Given the description of an element on the screen output the (x, y) to click on. 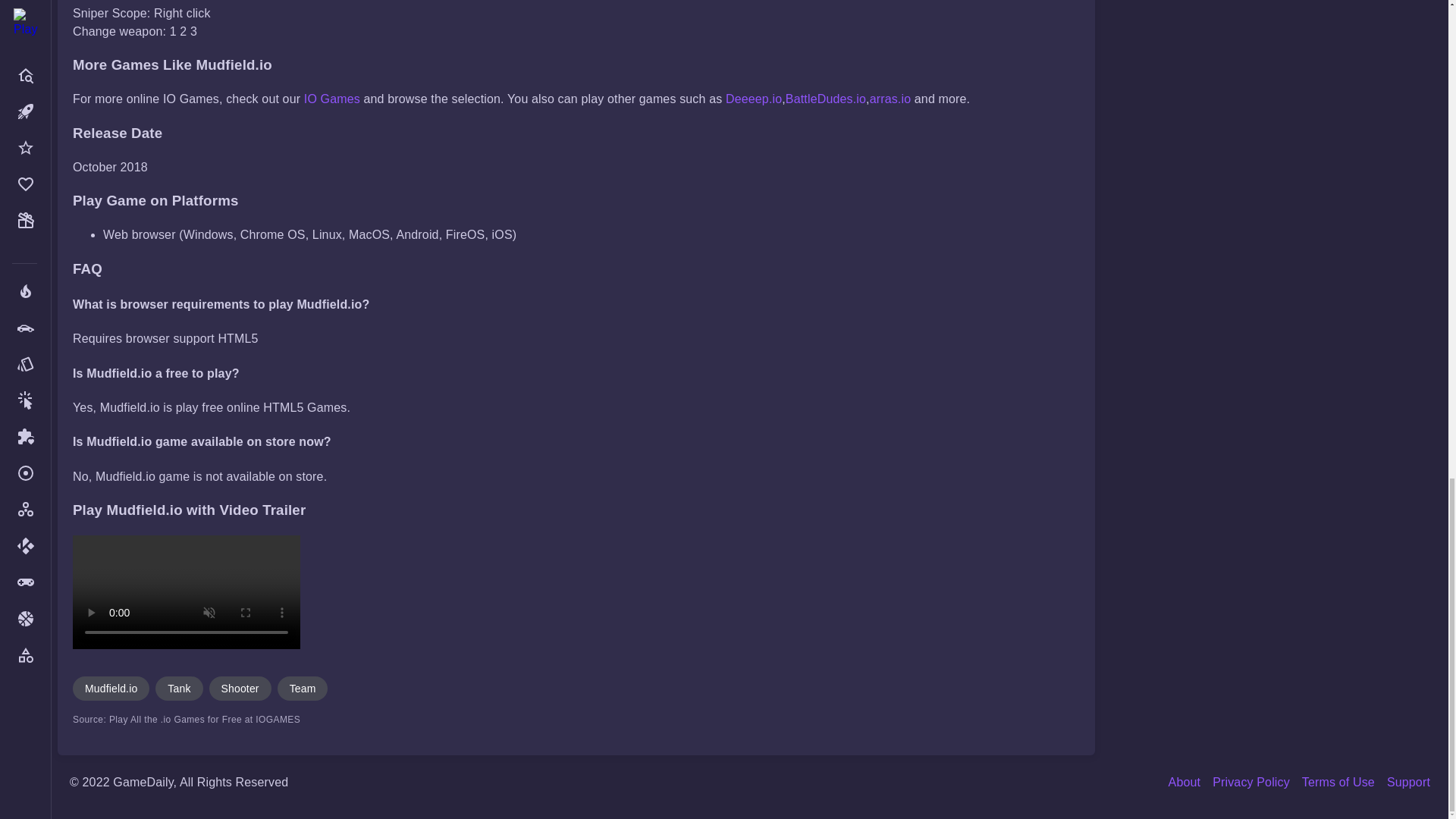
Shooter (239, 688)
Deeeep.io (753, 98)
IO Games (331, 98)
Tank (178, 688)
Mudfield.io (110, 688)
Team (303, 688)
BattleDudes.io (826, 98)
arras.io (890, 98)
